Given the description of an element on the screen output the (x, y) to click on. 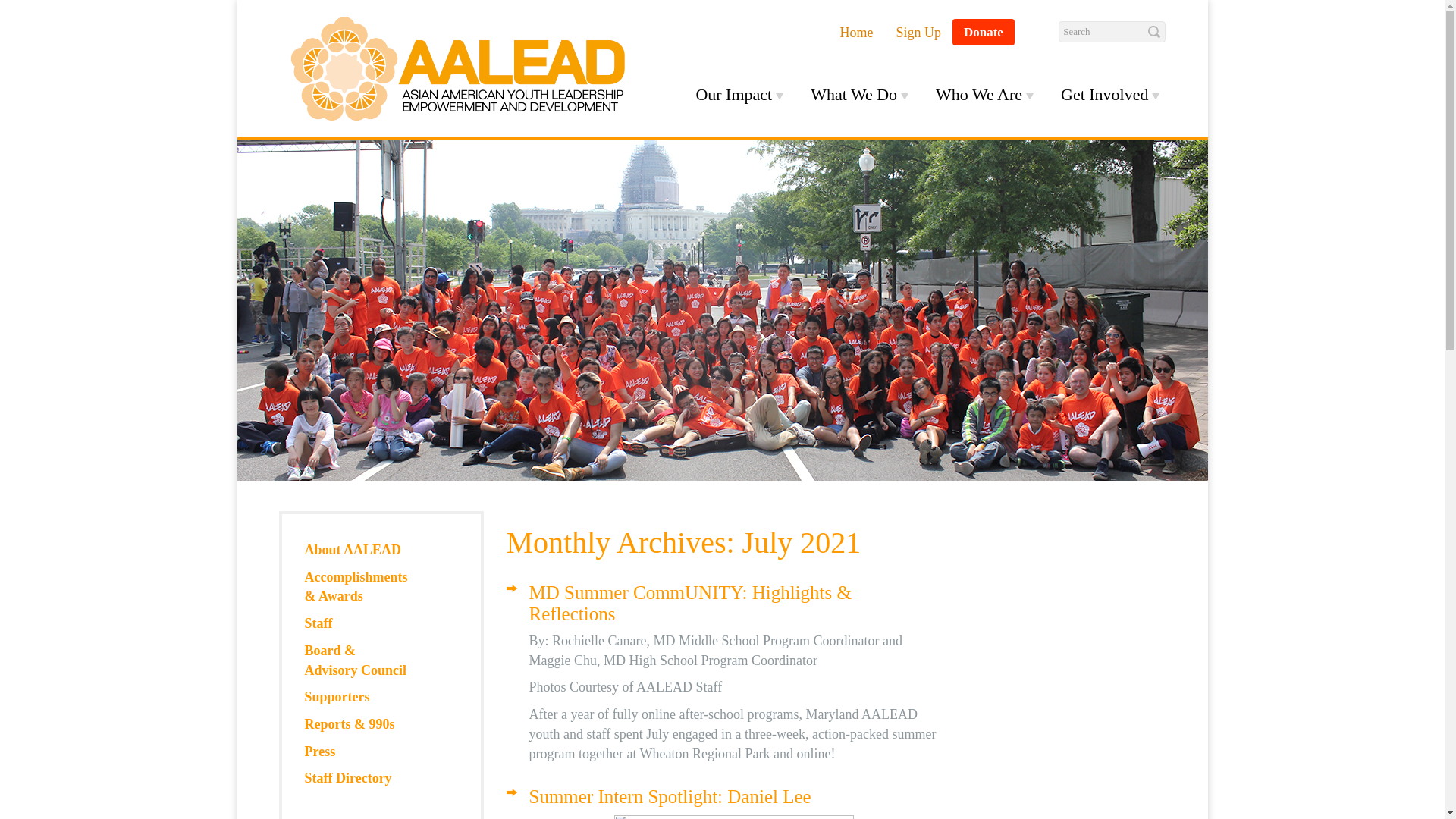
Get Involved (1110, 94)
Staff (356, 624)
Sign Up (917, 32)
Home (855, 32)
Who We Are (984, 94)
What We Do (859, 94)
Our Impact (739, 94)
About AALEAD (356, 550)
Donate (983, 31)
